Given the description of an element on the screen output the (x, y) to click on. 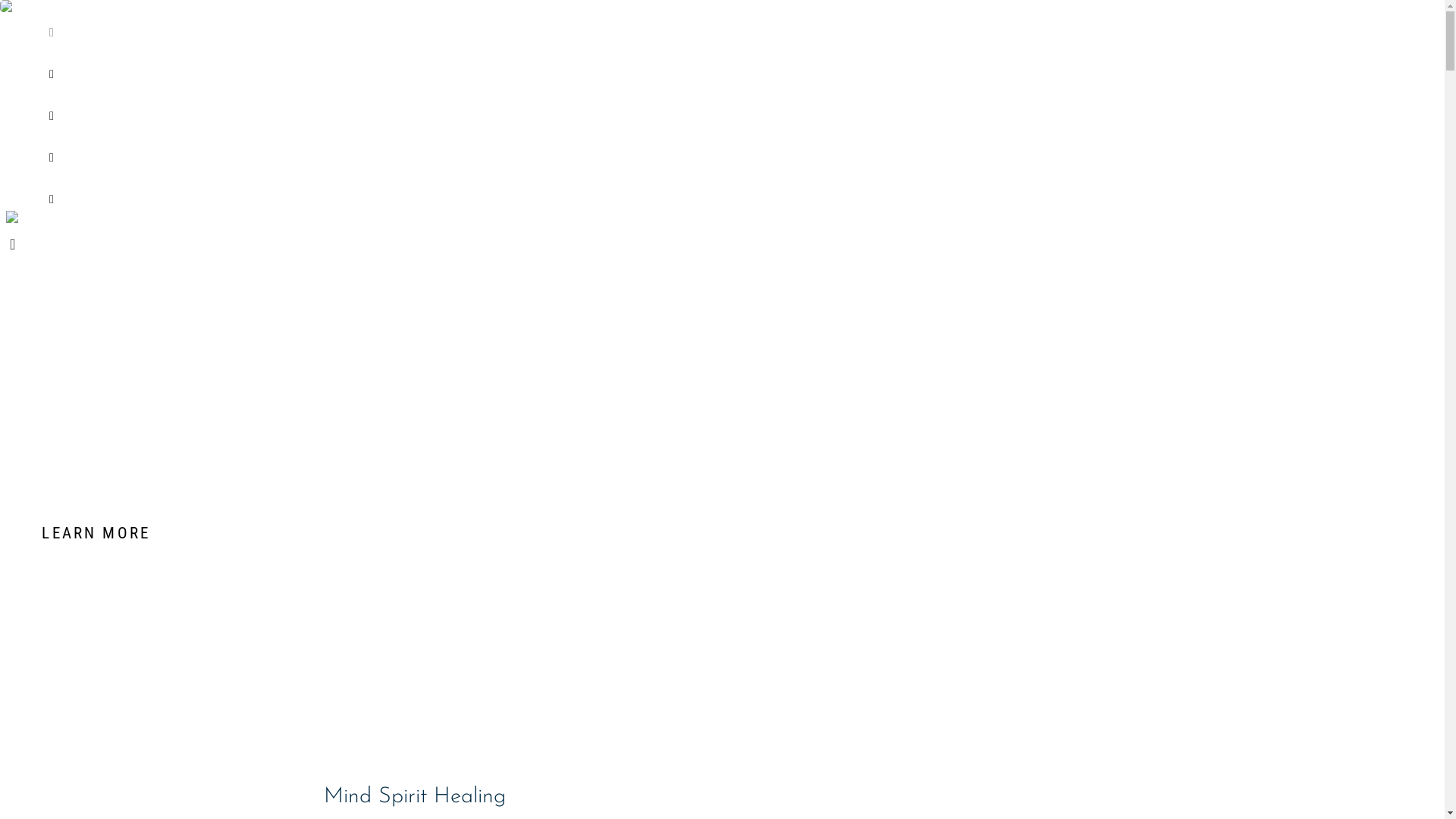
home Element type: text (551, 24)
about Element type: text (551, 66)
news Element type: text (551, 150)
LEARN MORE Element type: text (722, 533)
pricing Element type: text (551, 108)
book now Element type: text (551, 191)
